Given the description of an element on the screen output the (x, y) to click on. 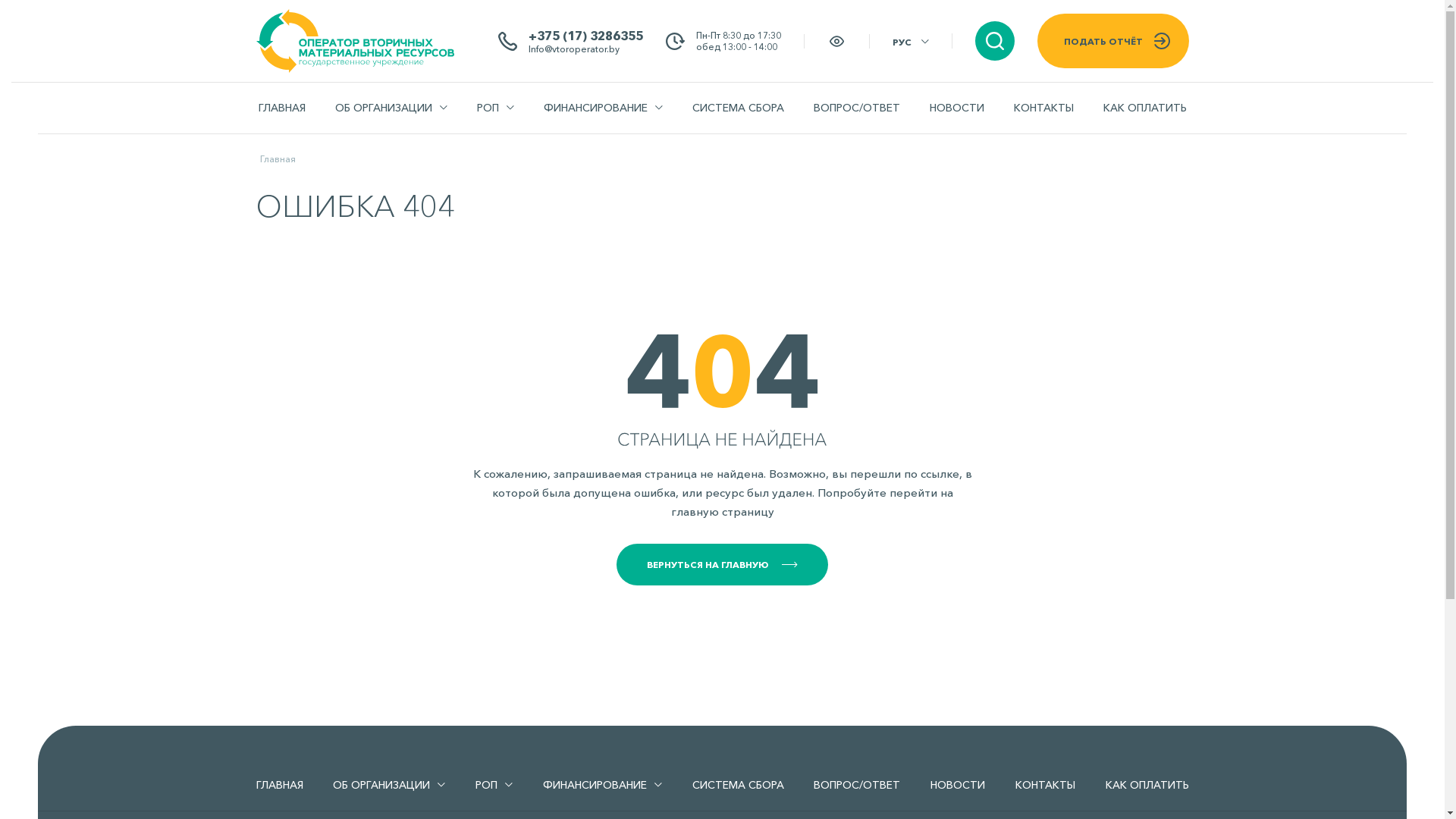
Info@vtoroperator.by Element type: text (584, 47)
+375 (17) 3286355 Element type: text (584, 34)
